Given the description of an element on the screen output the (x, y) to click on. 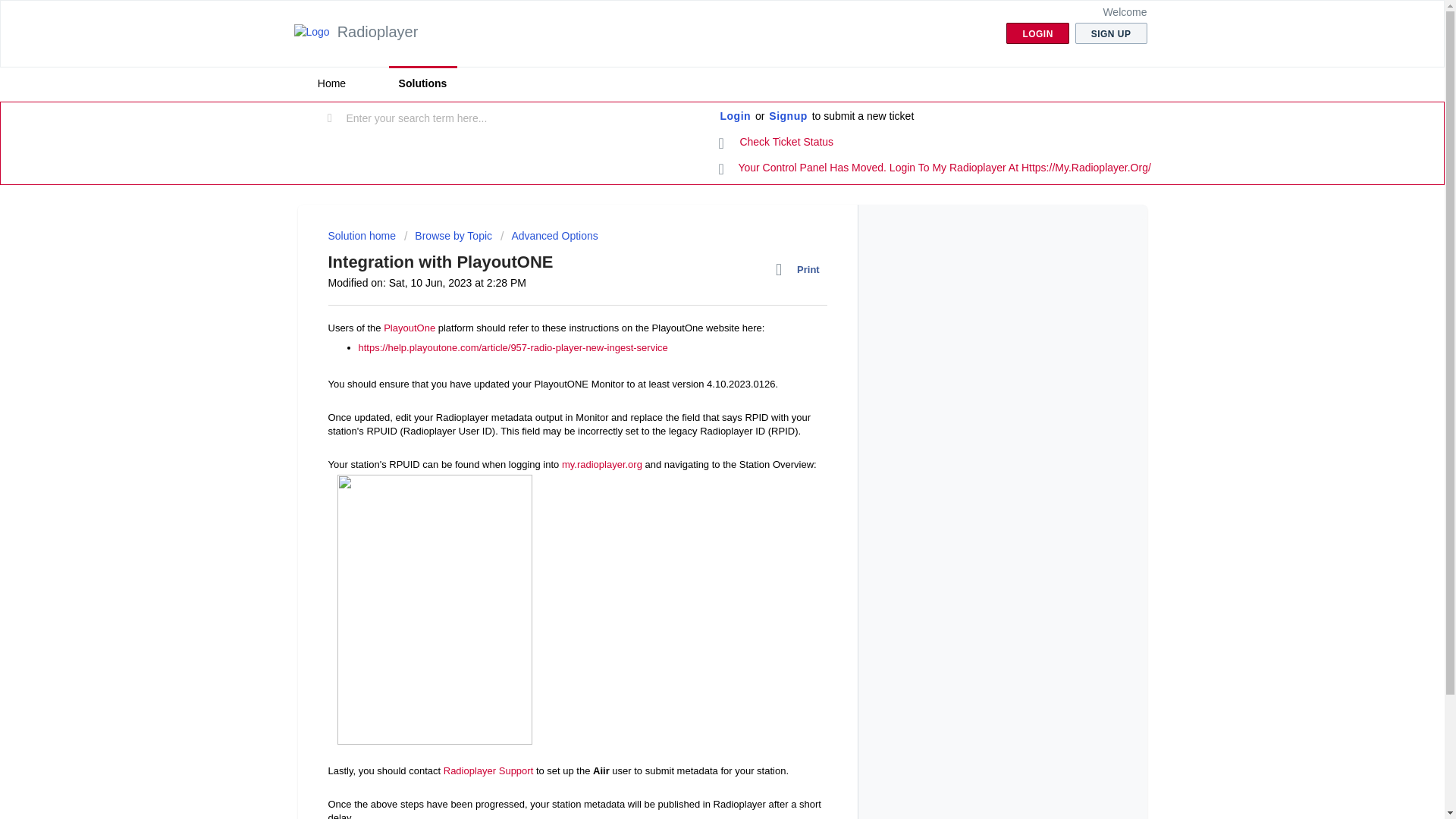
SIGN UP (1111, 33)
Radioplayer Support (489, 769)
LOGIN (1037, 33)
Login (735, 116)
Print (801, 270)
PlayoutOne (409, 327)
my.radioplayer.org (602, 464)
Home (331, 83)
Advanced Options (549, 235)
Check Ticket Status (776, 142)
